Given the description of an element on the screen output the (x, y) to click on. 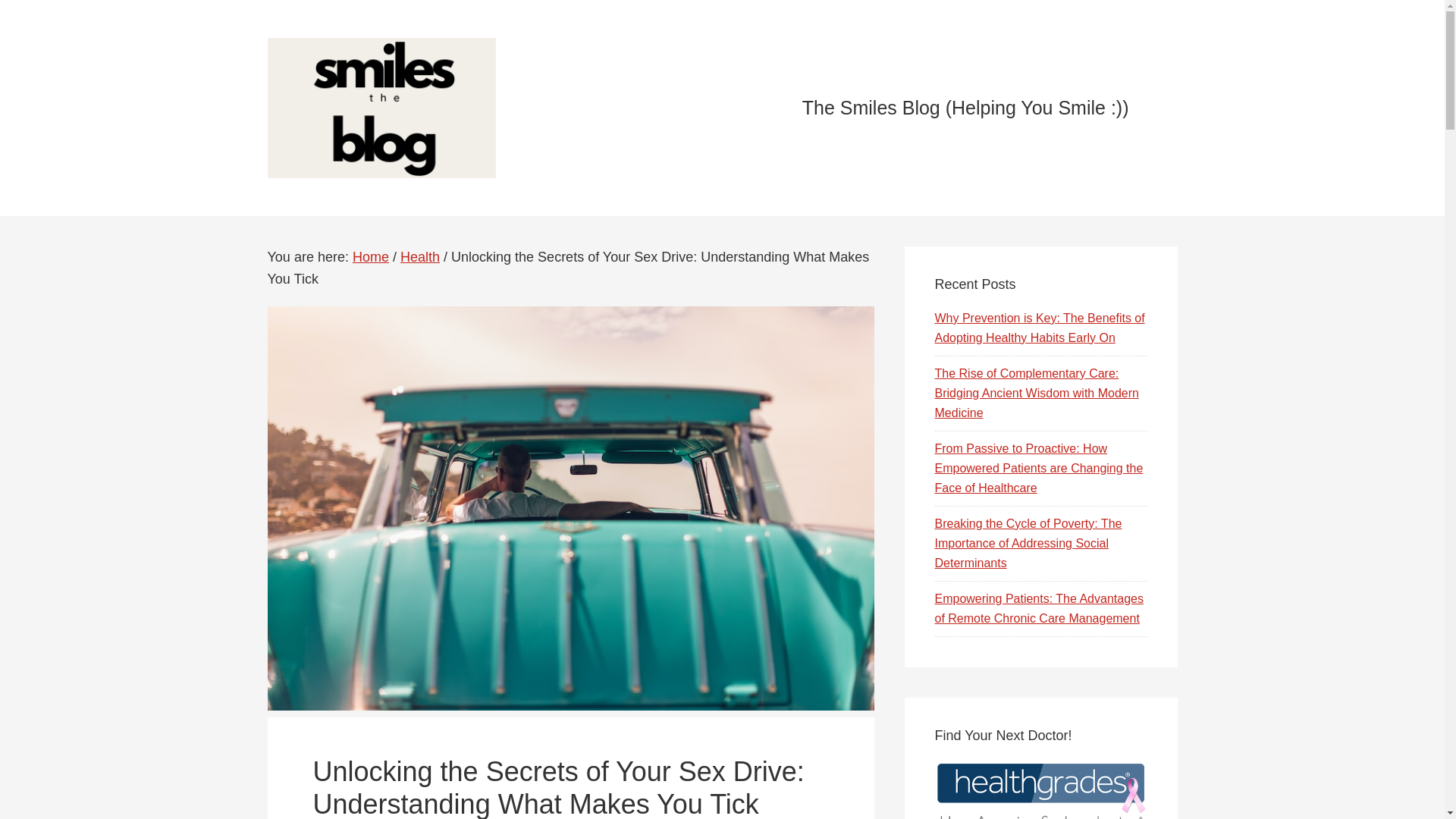
The Smiles Blog (403, 107)
Health (419, 256)
Home (370, 256)
Health Grades (1040, 789)
